Given the description of an element on the screen output the (x, y) to click on. 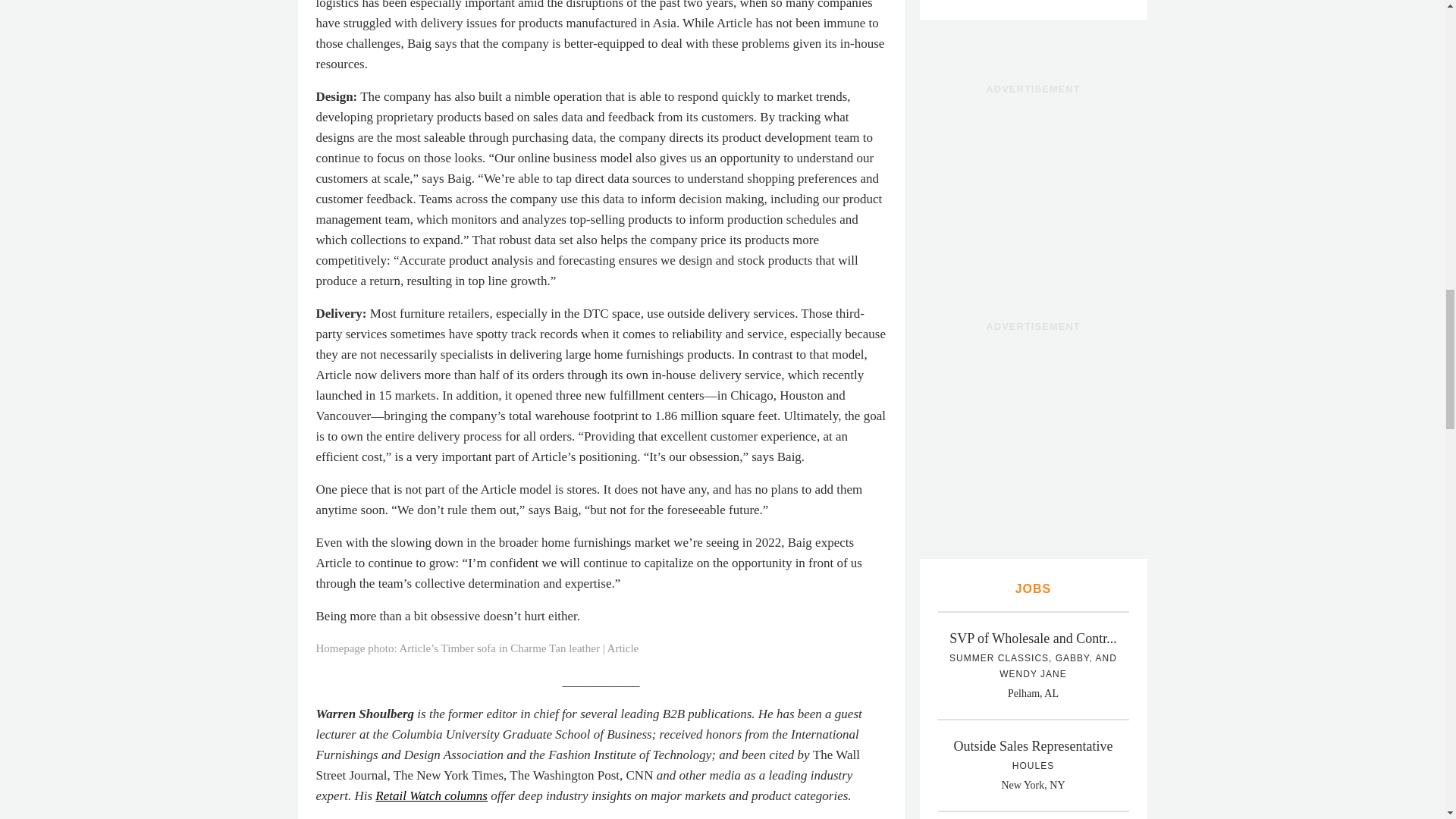
3rd party ad content (1032, 433)
3rd party ad content (1032, 196)
